Given the description of an element on the screen output the (x, y) to click on. 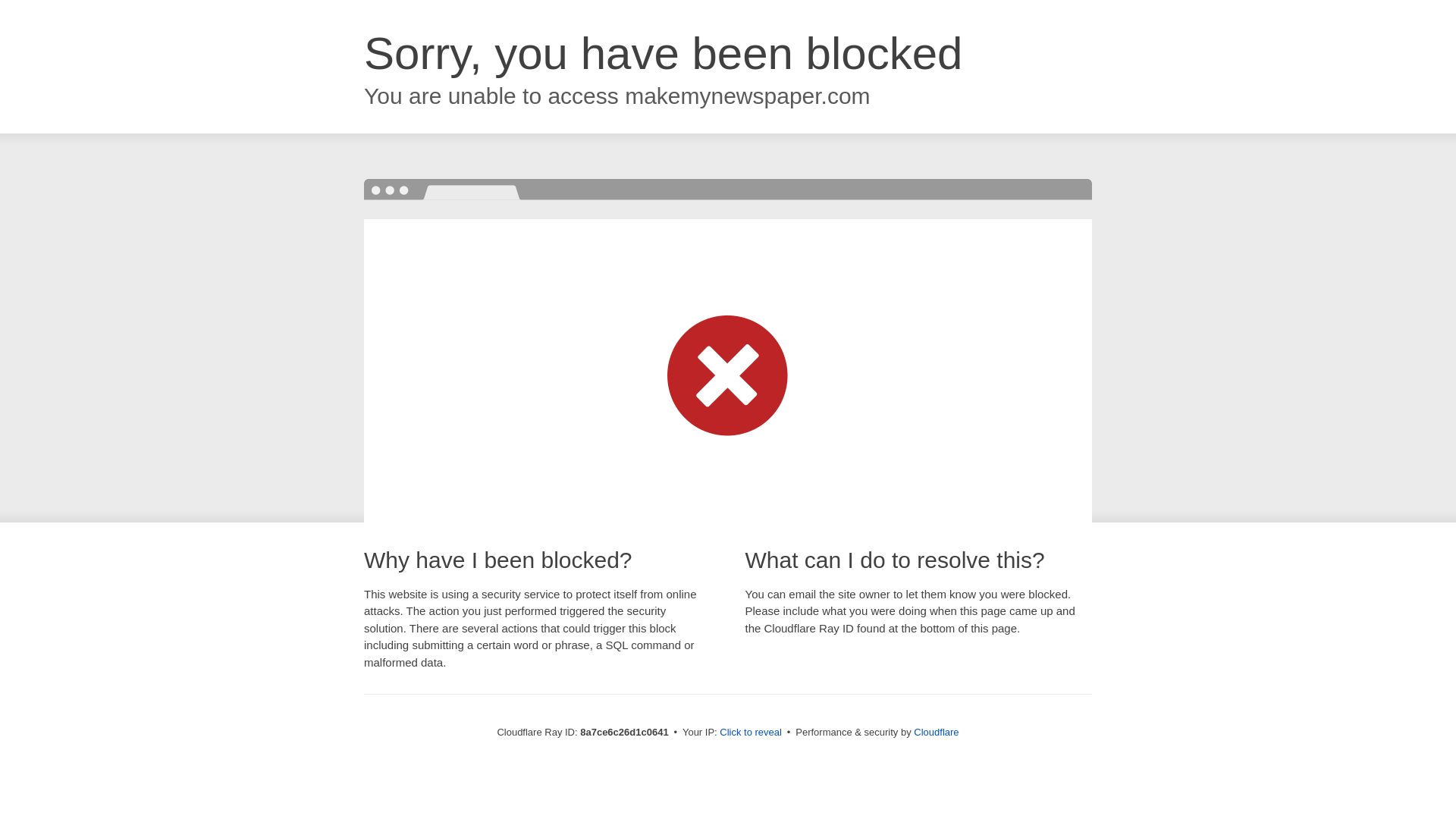
Cloudflare (936, 731)
Click to reveal (750, 732)
